Given the description of an element on the screen output the (x, y) to click on. 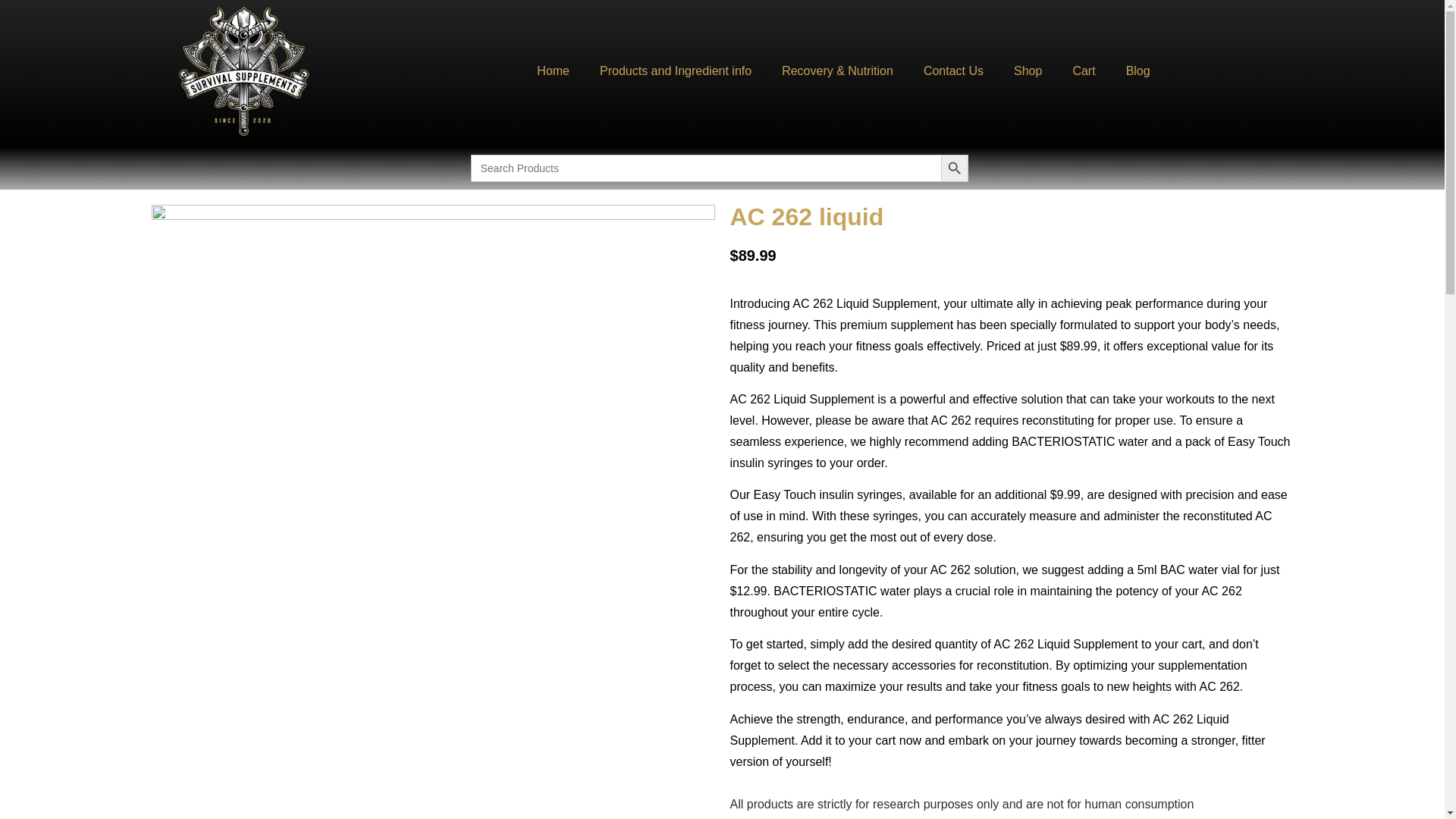
Shop (1027, 71)
Cart (1083, 71)
Contact Us (953, 71)
Search Button (954, 167)
Home (553, 71)
Products and Ingredient info (676, 71)
Blog (1138, 71)
